Given the description of an element on the screen output the (x, y) to click on. 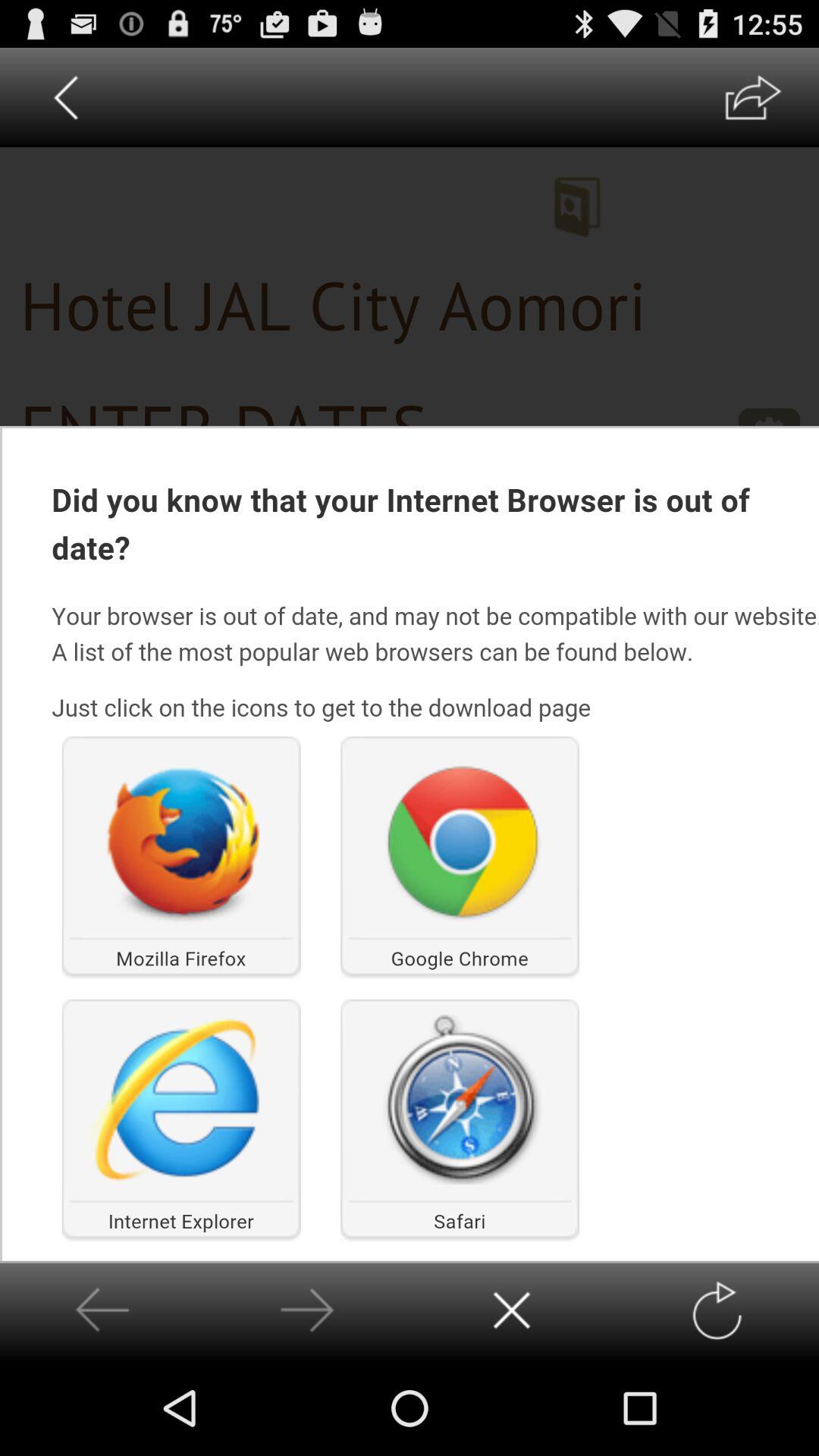
share the article (752, 97)
